Given the description of an element on the screen output the (x, y) to click on. 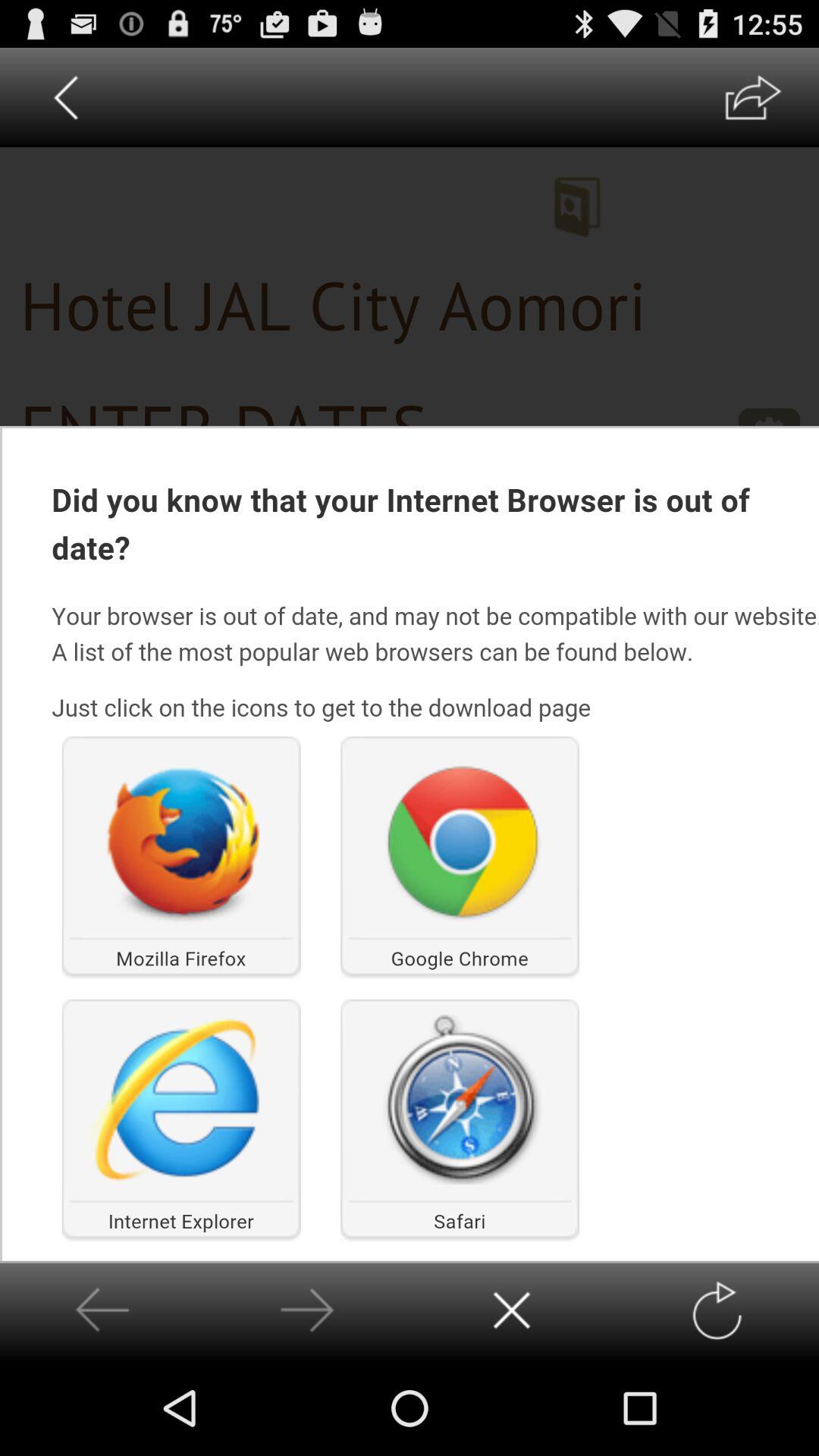
share the article (752, 97)
